Given the description of an element on the screen output the (x, y) to click on. 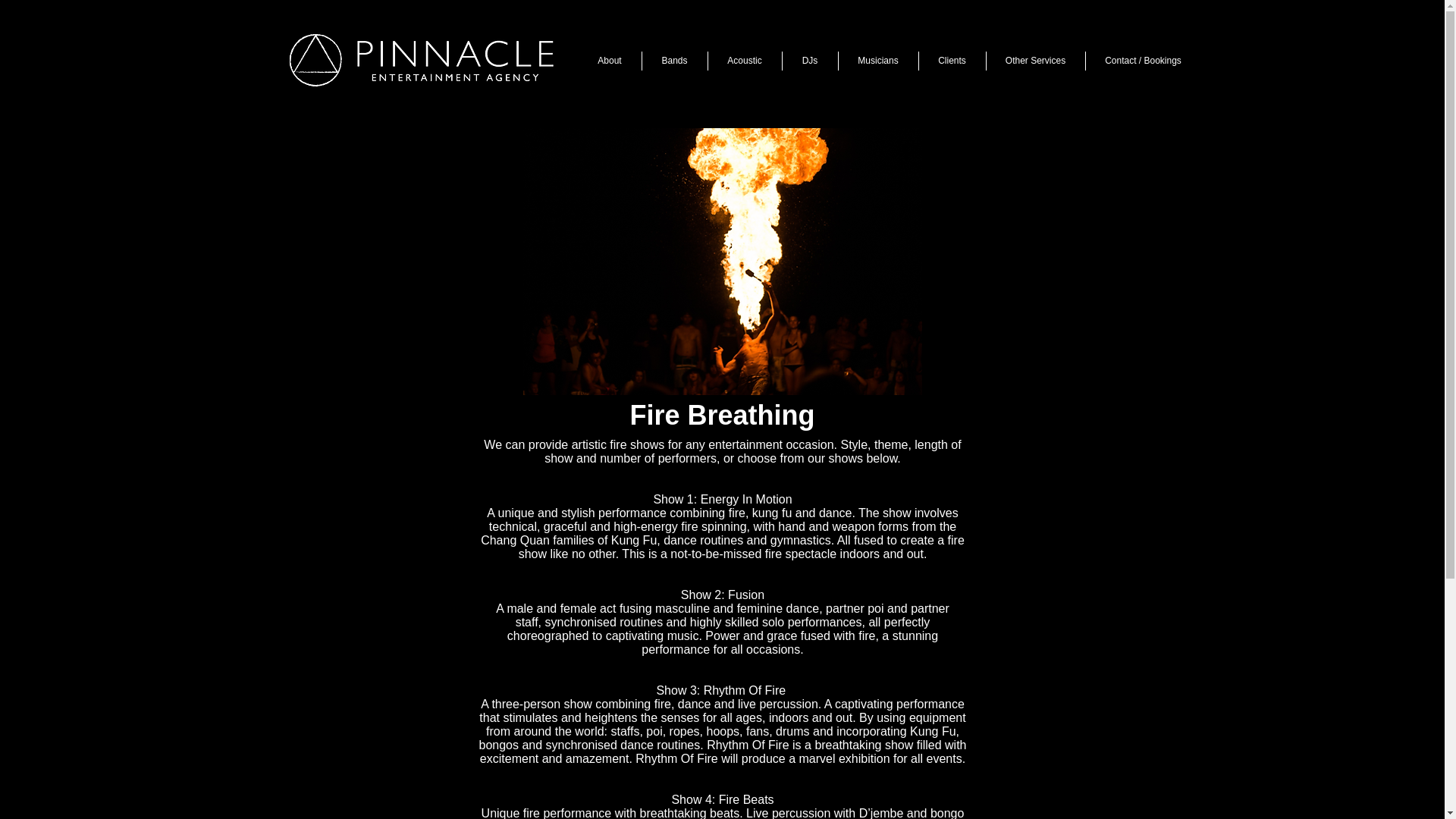
Musicians (878, 60)
Other Services (1034, 60)
DJs (810, 60)
Bands (674, 60)
Clients (951, 60)
About (609, 60)
Fire Breather (722, 260)
Acoustic (744, 60)
